Given the description of an element on the screen output the (x, y) to click on. 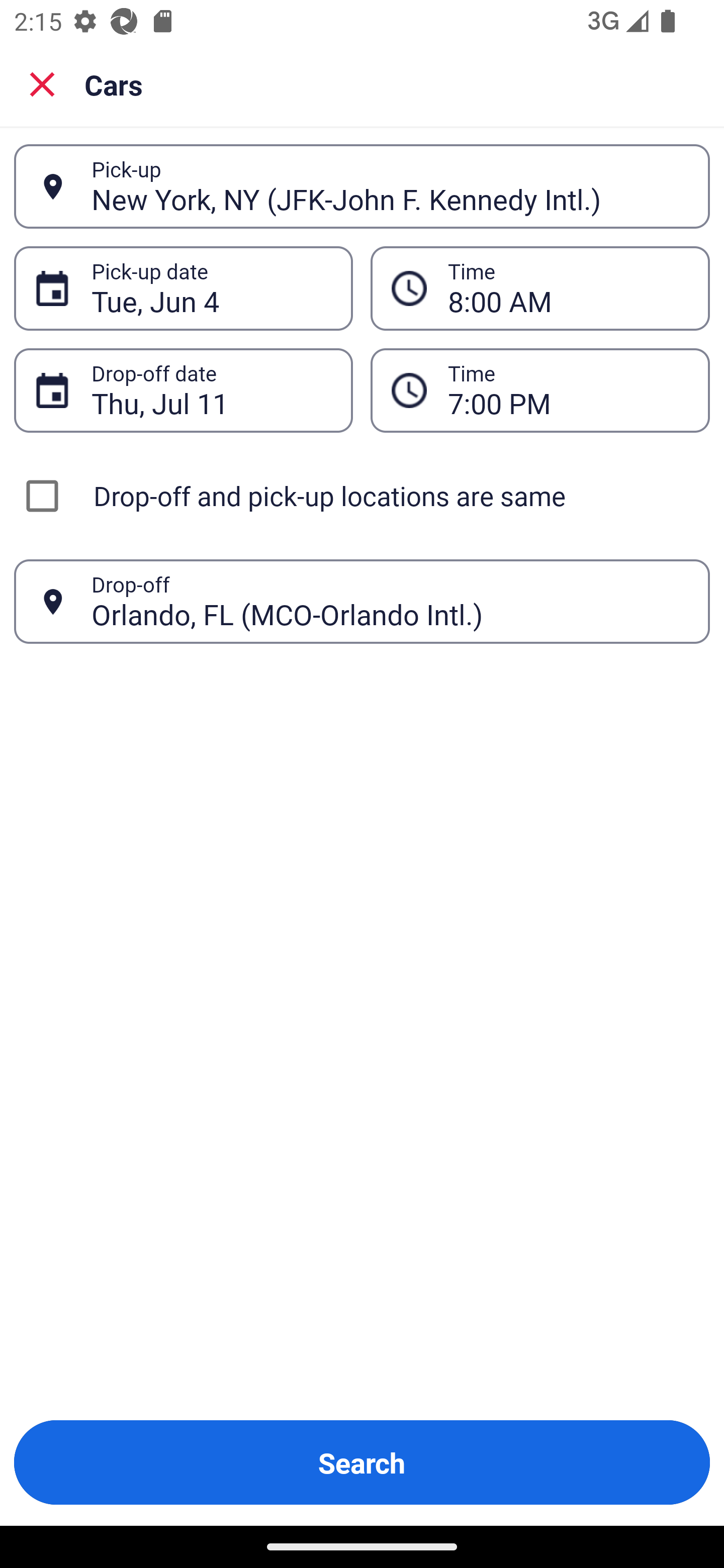
Close search screen (41, 83)
New York, NY (JFK-John F. Kennedy Intl.) Pick-up (361, 186)
New York, NY (JFK-John F. Kennedy Intl.) (389, 186)
Tue, Jun 4 Pick-up date (183, 288)
8:00 AM (540, 288)
Tue, Jun 4 (211, 288)
8:00 AM (568, 288)
Thu, Jul 11 Drop-off date (183, 390)
7:00 PM (540, 390)
Thu, Jul 11 (211, 390)
7:00 PM (568, 390)
Drop-off and pick-up locations are same (361, 495)
Orlando, FL (MCO-Orlando Intl.) Drop-off (361, 601)
Orlando, FL (MCO-Orlando Intl.) (389, 601)
Search Button Search (361, 1462)
